Given the description of an element on the screen output the (x, y) to click on. 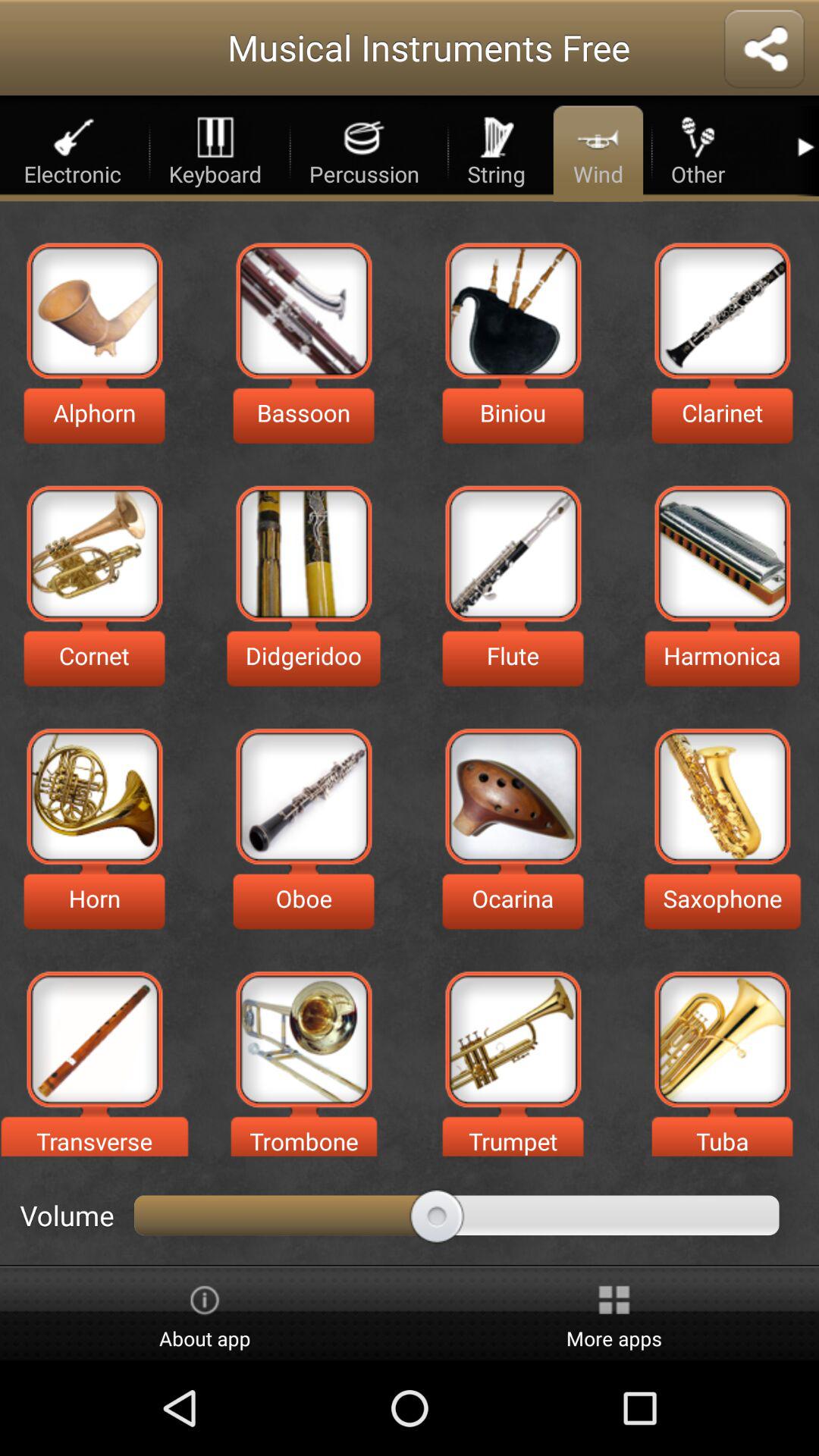
select horn (94, 796)
